Given the description of an element on the screen output the (x, y) to click on. 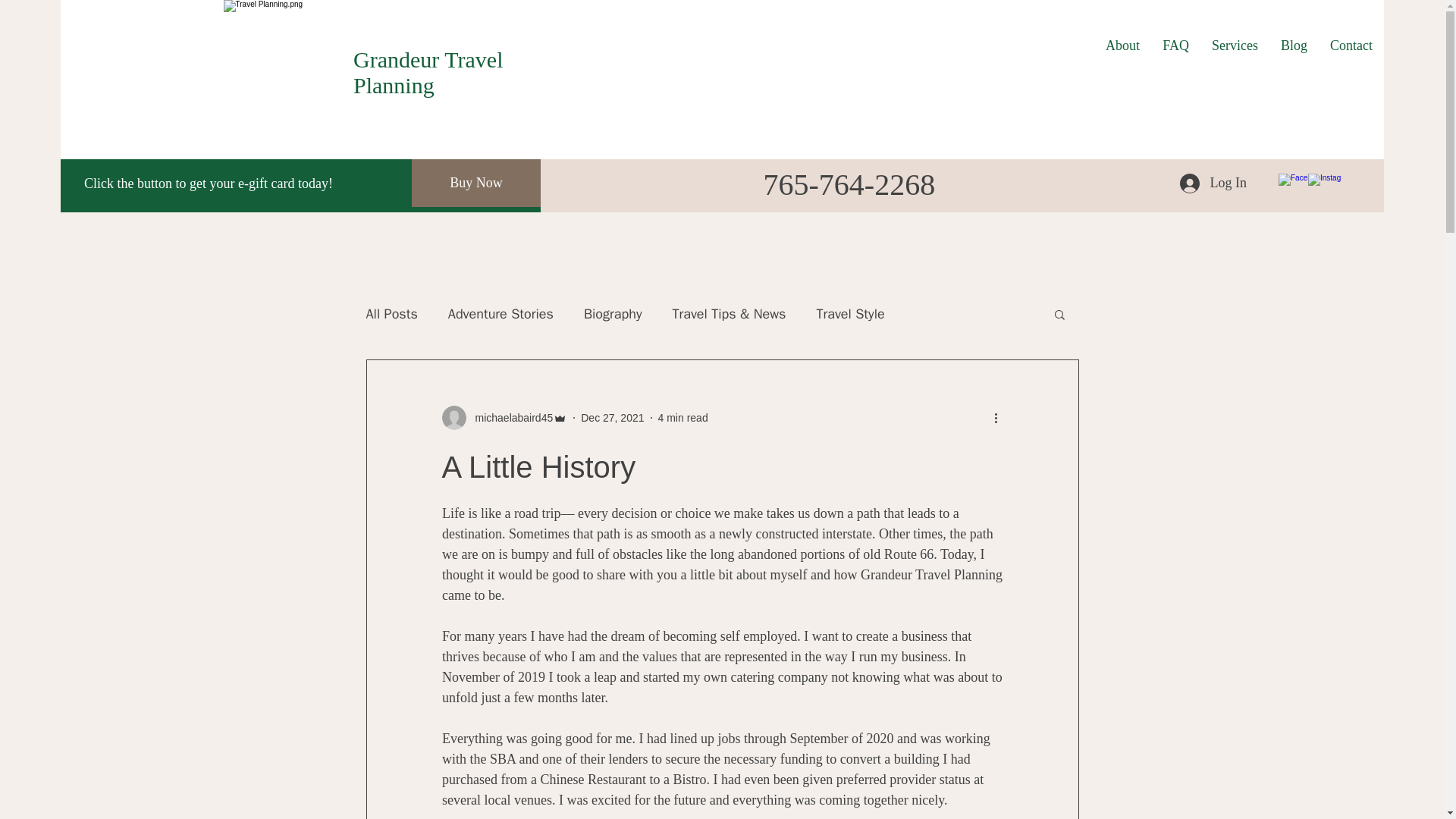
Buy Now (476, 182)
michaelabaird45 (504, 417)
Log In (1213, 182)
Services (1234, 45)
Travel Planning.png (293, 53)
All Posts (390, 313)
Grandeur Travel Planning (427, 71)
4 min read (682, 417)
About (1122, 45)
Blog (1294, 45)
michaelabaird45 (509, 417)
Dec 27, 2021 (611, 417)
FAQ (1175, 45)
Biography (612, 313)
Travel Style (849, 313)
